Given the description of an element on the screen output the (x, y) to click on. 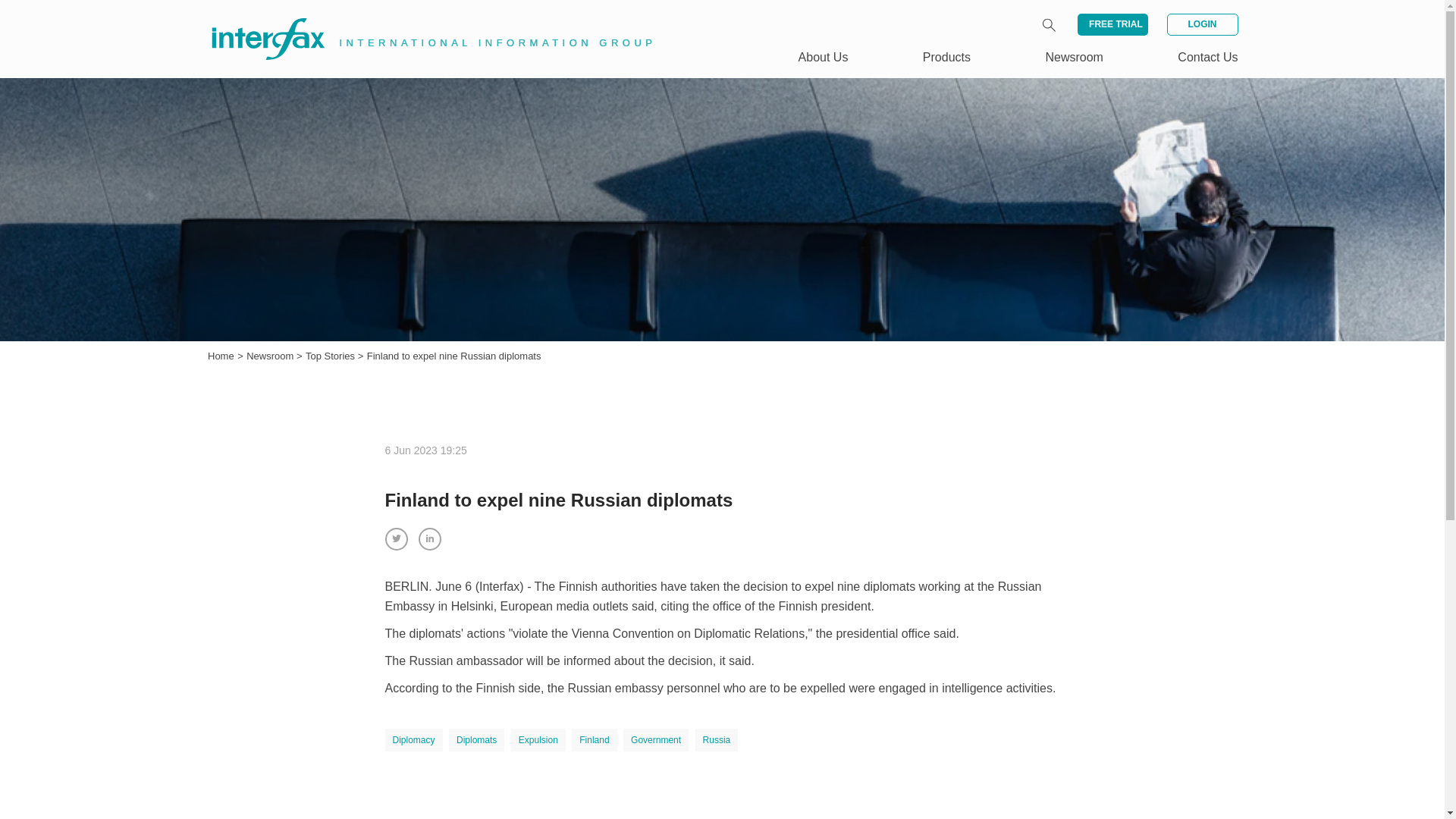
FREE TRIAL (1112, 24)
LOGIN (1201, 24)
Diplomacy (413, 739)
Expulsion (538, 739)
Top Stories (331, 355)
Contact Us (1207, 56)
Newsroom (1073, 56)
Newsroom (271, 355)
Finland (593, 739)
Diplomats (475, 739)
INTERNATIONAL INFORMATION GROUP (421, 20)
Contact Us (1207, 56)
Newsroom (271, 355)
About Us (822, 56)
Home (221, 355)
